Given the description of an element on the screen output the (x, y) to click on. 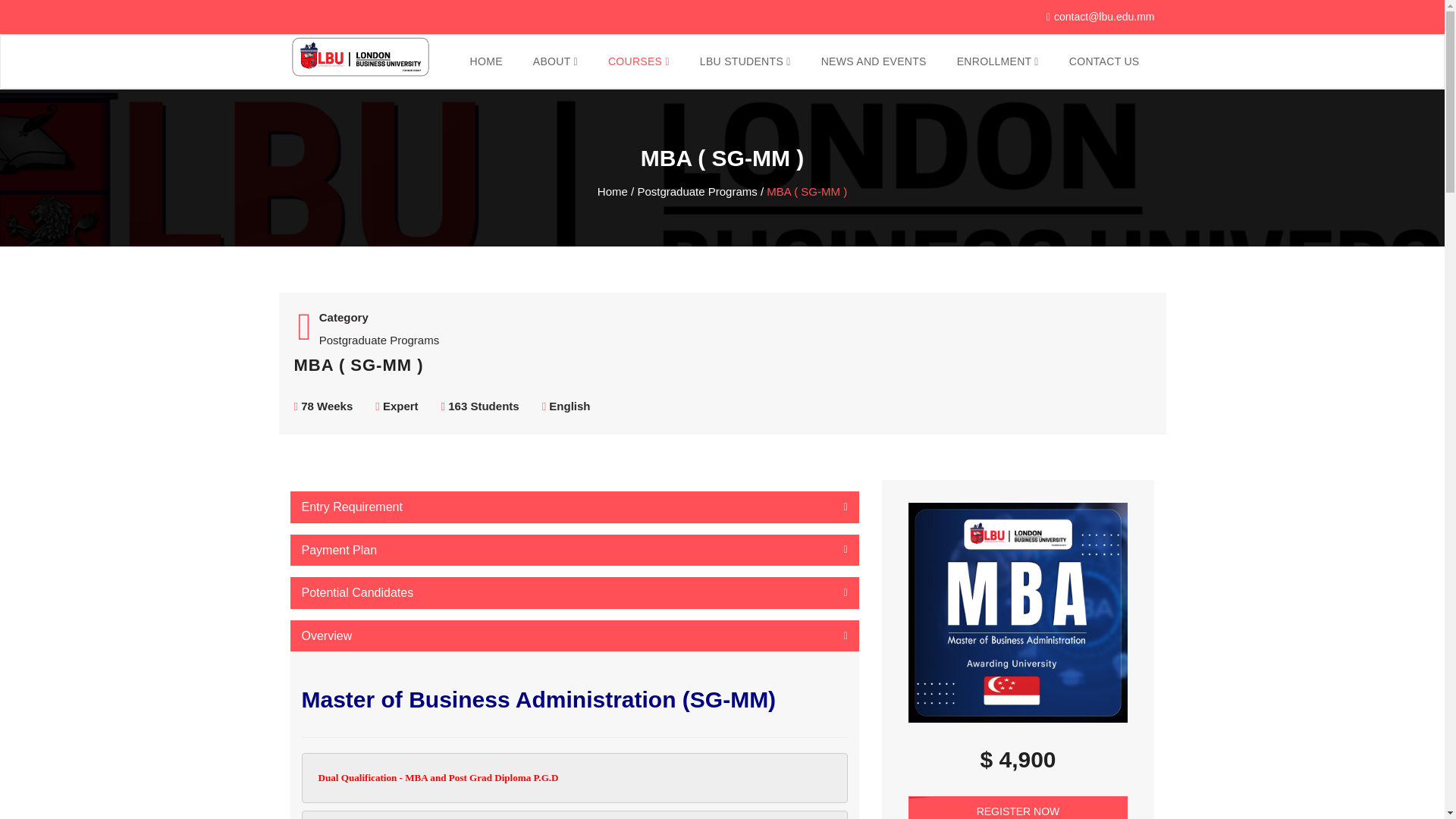
ABOUT (555, 61)
HOME (486, 61)
